Given the description of an element on the screen output the (x, y) to click on. 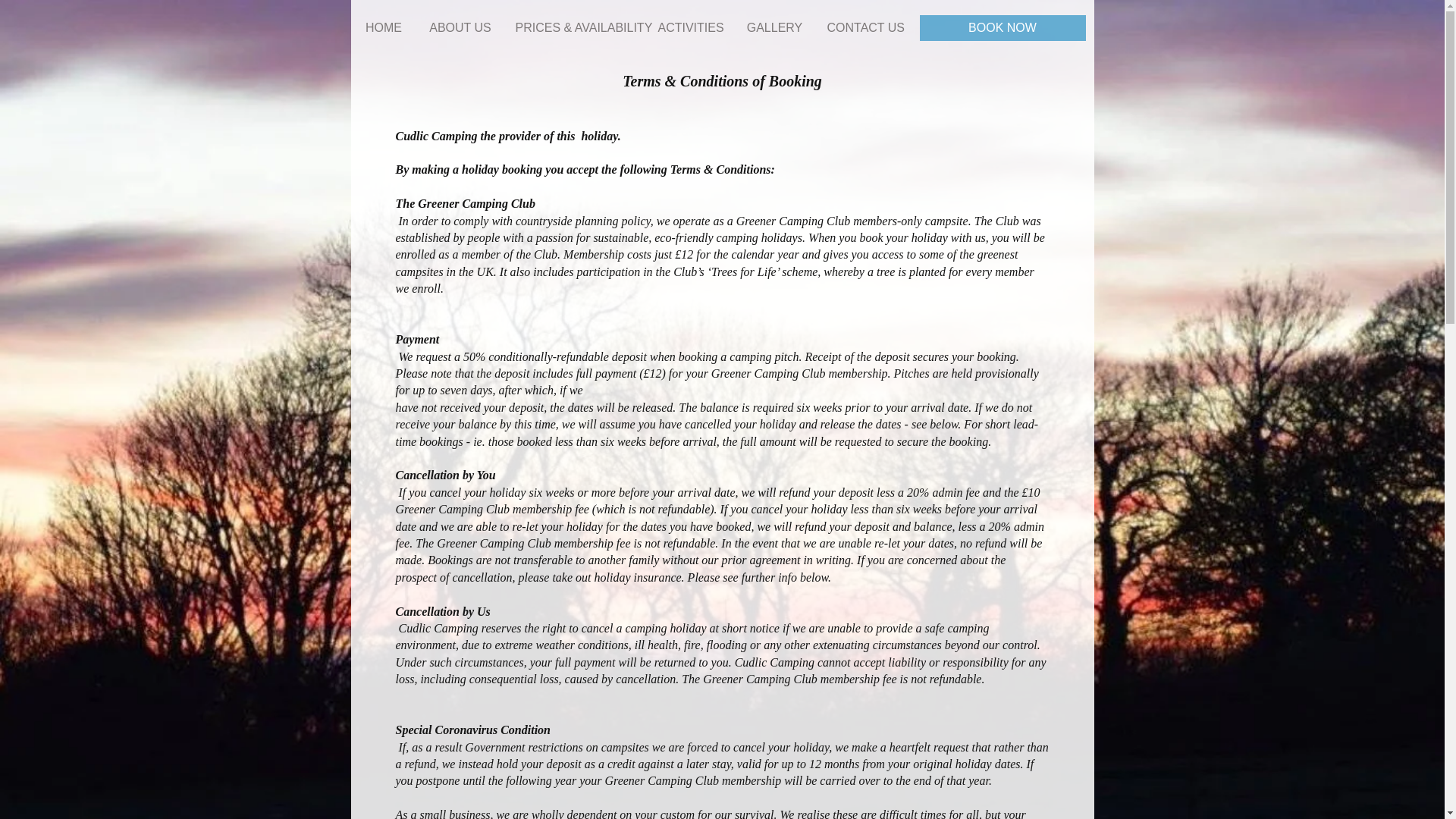
GALLERY (774, 27)
BOOK NOW (1001, 27)
CONTACT US (862, 27)
ACTIVITIES (689, 27)
ABOUT US (459, 27)
HOME (383, 27)
